Given the description of an element on the screen output the (x, y) to click on. 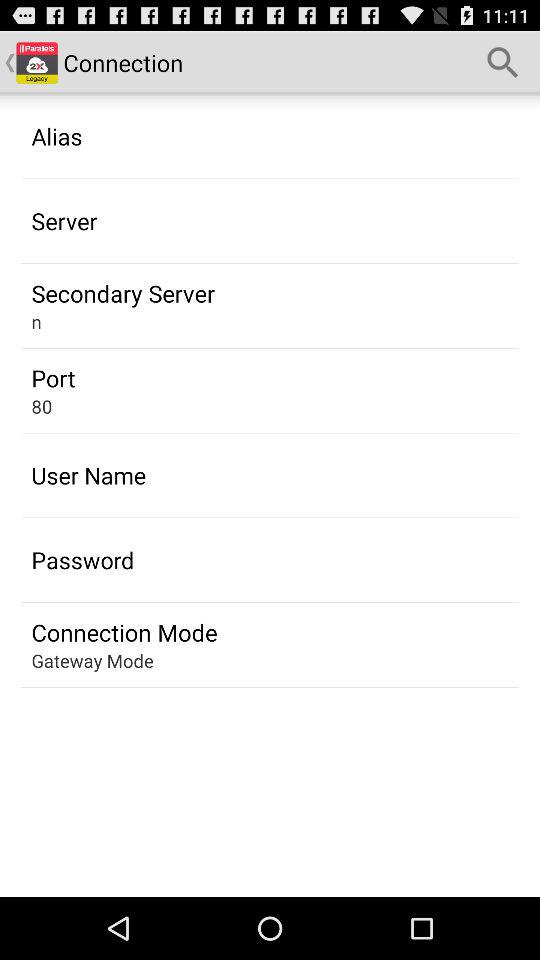
swipe to the alias item (56, 136)
